Given the description of an element on the screen output the (x, y) to click on. 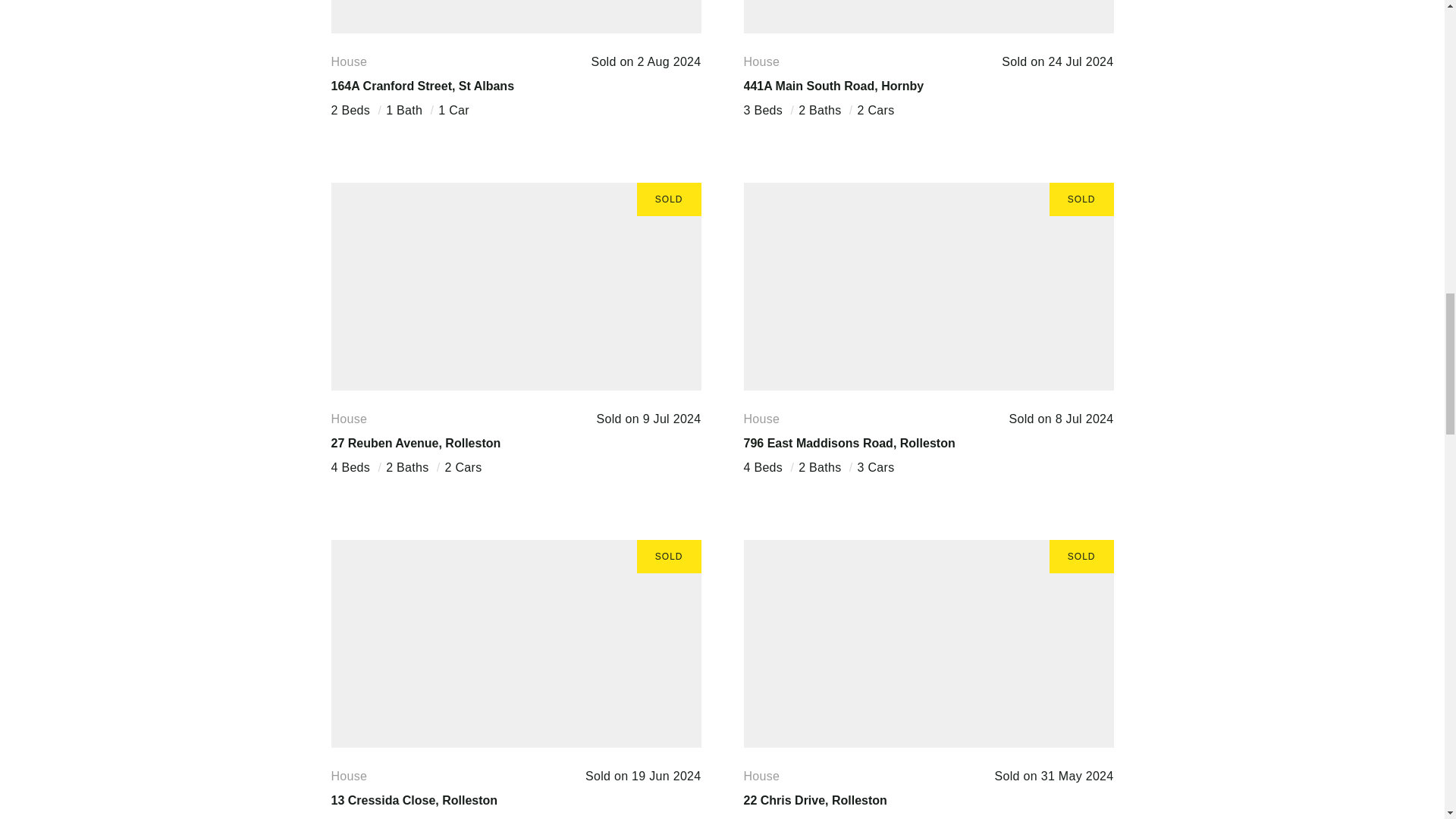
SOLD (515, 643)
SOLD (927, 643)
13 Cressida Close, Rolleston (413, 799)
SOLD (515, 17)
164A Cranford Street, St Albans (421, 85)
SOLD (927, 286)
441A Main South Road, Hornby (832, 85)
27 Reuben Avenue, Rolleston (415, 442)
SOLD (927, 17)
796 East Maddisons Road, Rolleston (848, 442)
